Given the description of an element on the screen output the (x, y) to click on. 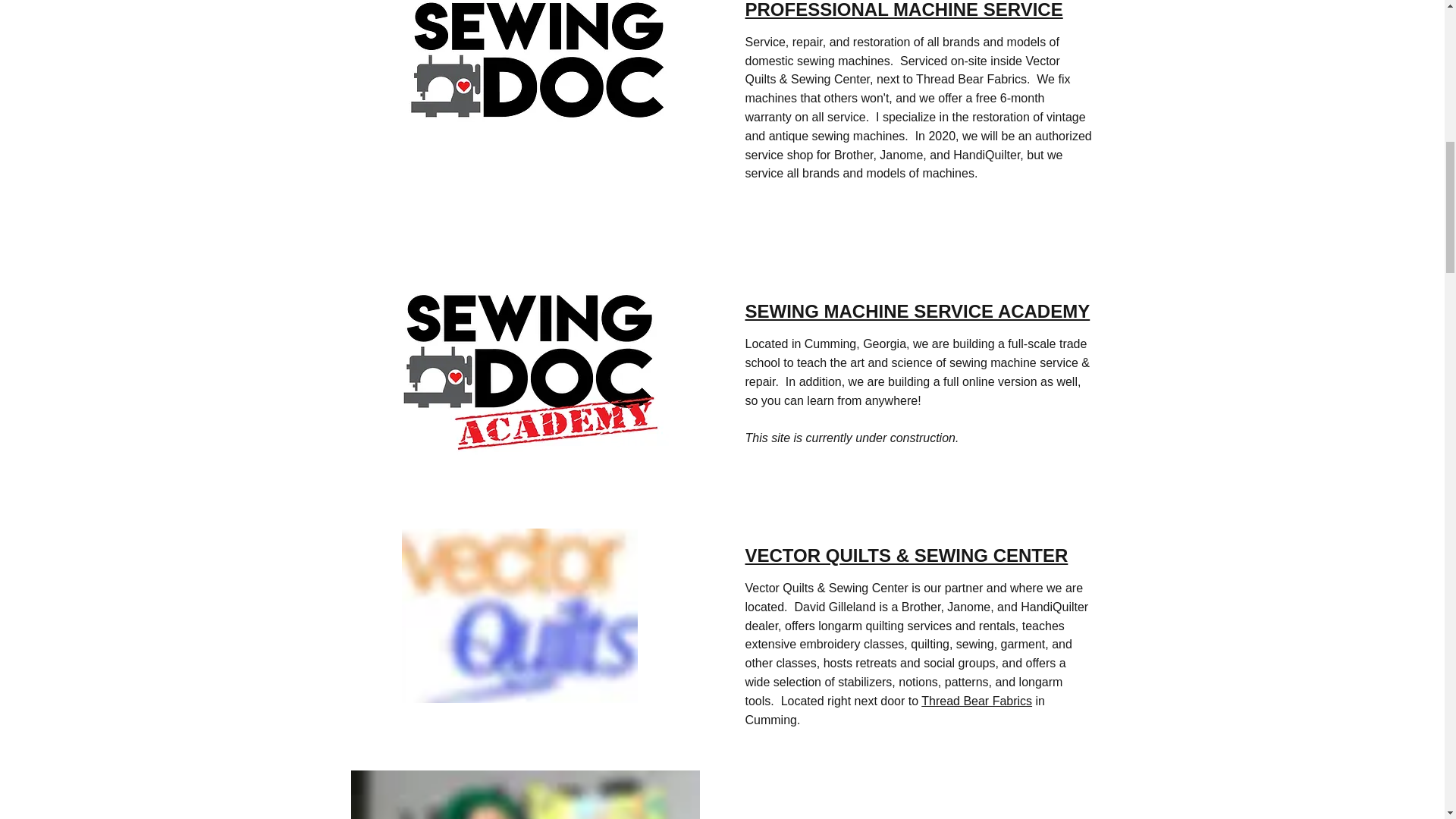
PROFESSIONAL MACHINE SERVICE (903, 9)
SEWING MACHINE SERVICE ACADEMY (916, 311)
Thread Bear Fabrics (976, 700)
